Given the description of an element on the screen output the (x, y) to click on. 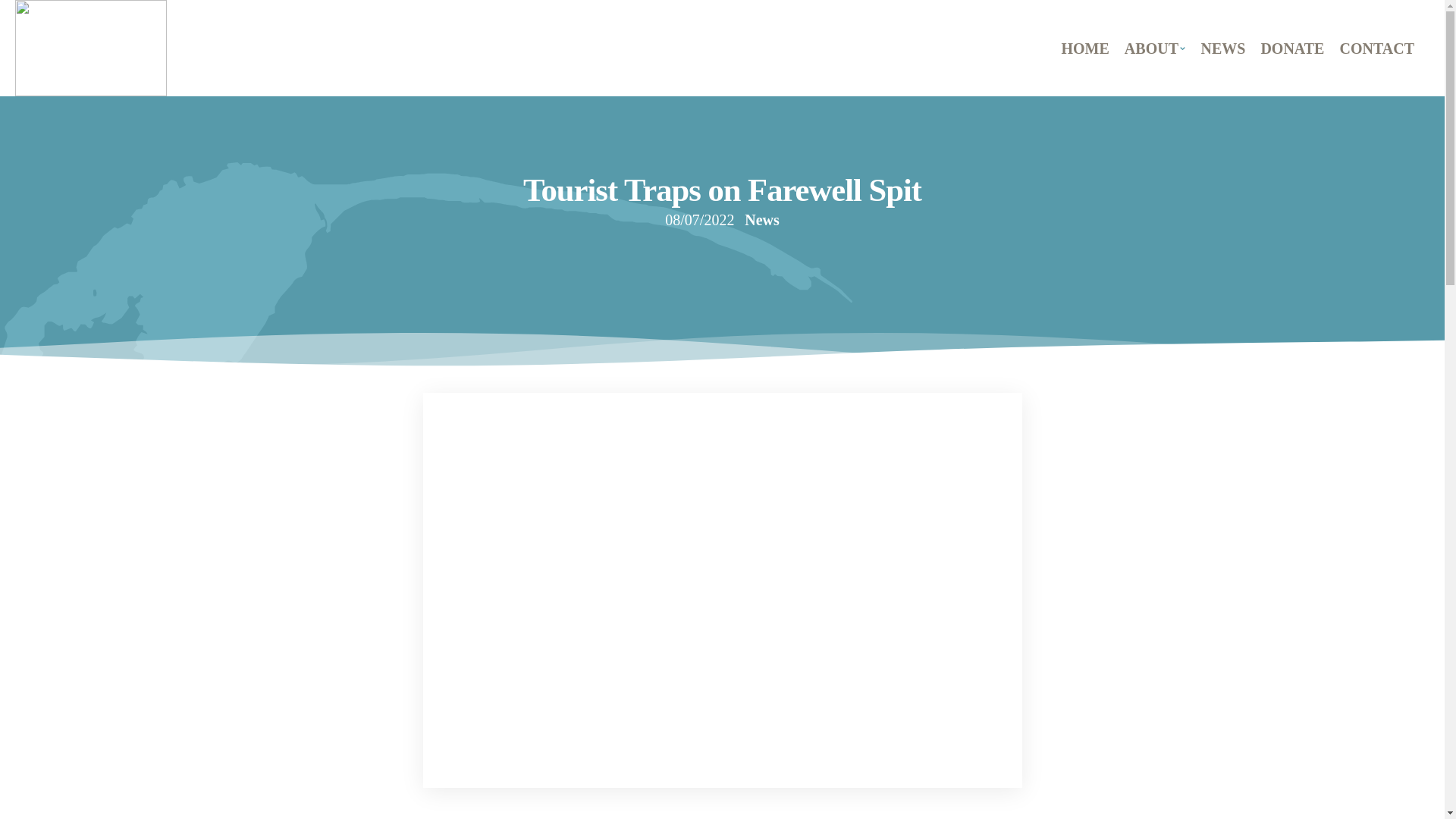
ABOUT (1154, 47)
DONATE (1292, 47)
NEWS (1222, 47)
News (761, 219)
CONTACT (1377, 47)
HOME (1085, 47)
